Given the description of an element on the screen output the (x, y) to click on. 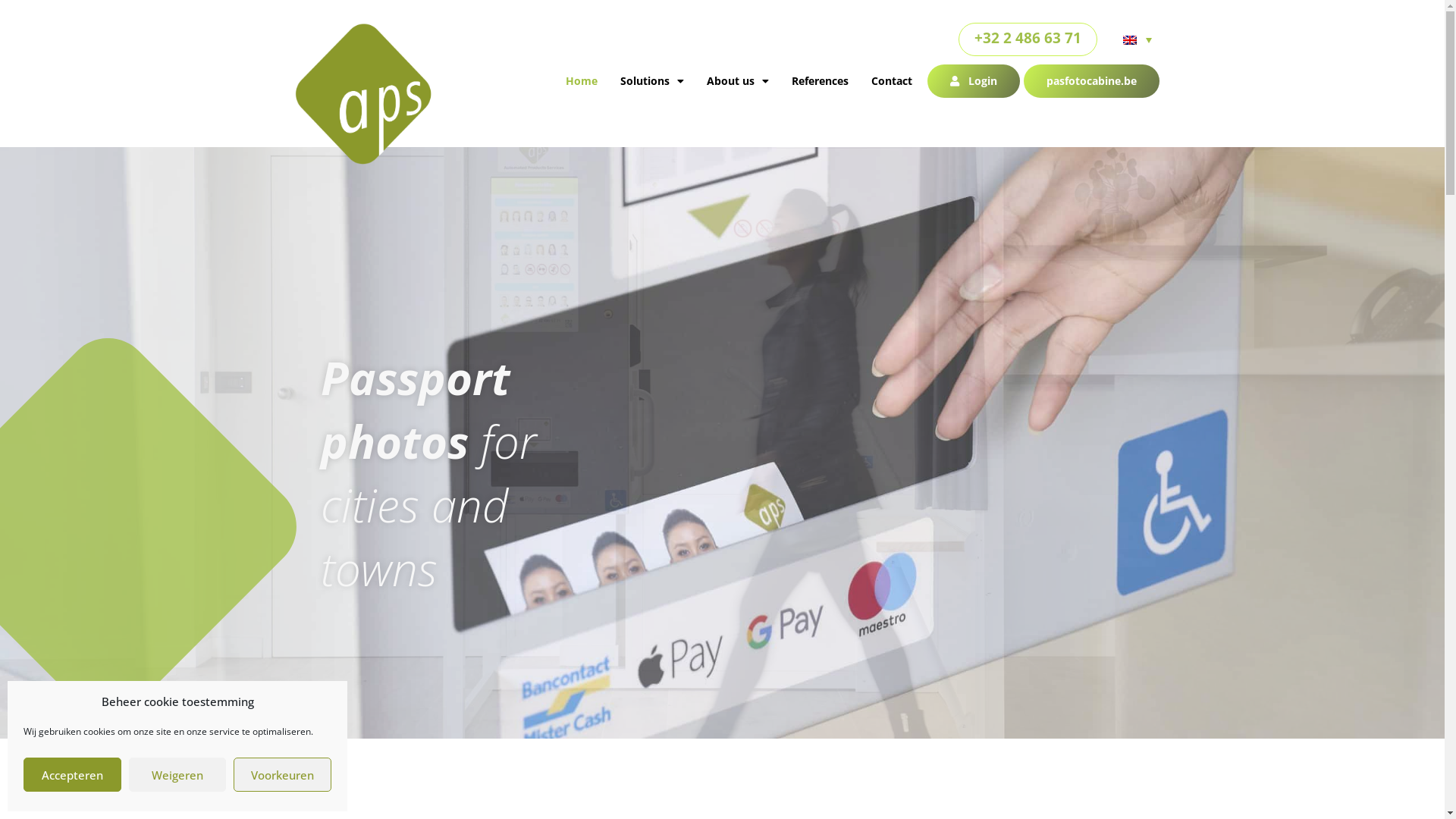
Weigeren Element type: text (177, 774)
Contact Element type: text (891, 80)
Voorkeuren Element type: text (282, 774)
Login Element type: text (973, 80)
Solutions Element type: text (652, 80)
References Element type: text (819, 80)
pasfotocabine.be Element type: text (1091, 80)
+32 2 486 63 71 Element type: text (1027, 37)
Home Element type: text (581, 80)
Accepteren Element type: text (72, 774)
About us Element type: text (737, 80)
